Given the description of an element on the screen output the (x, y) to click on. 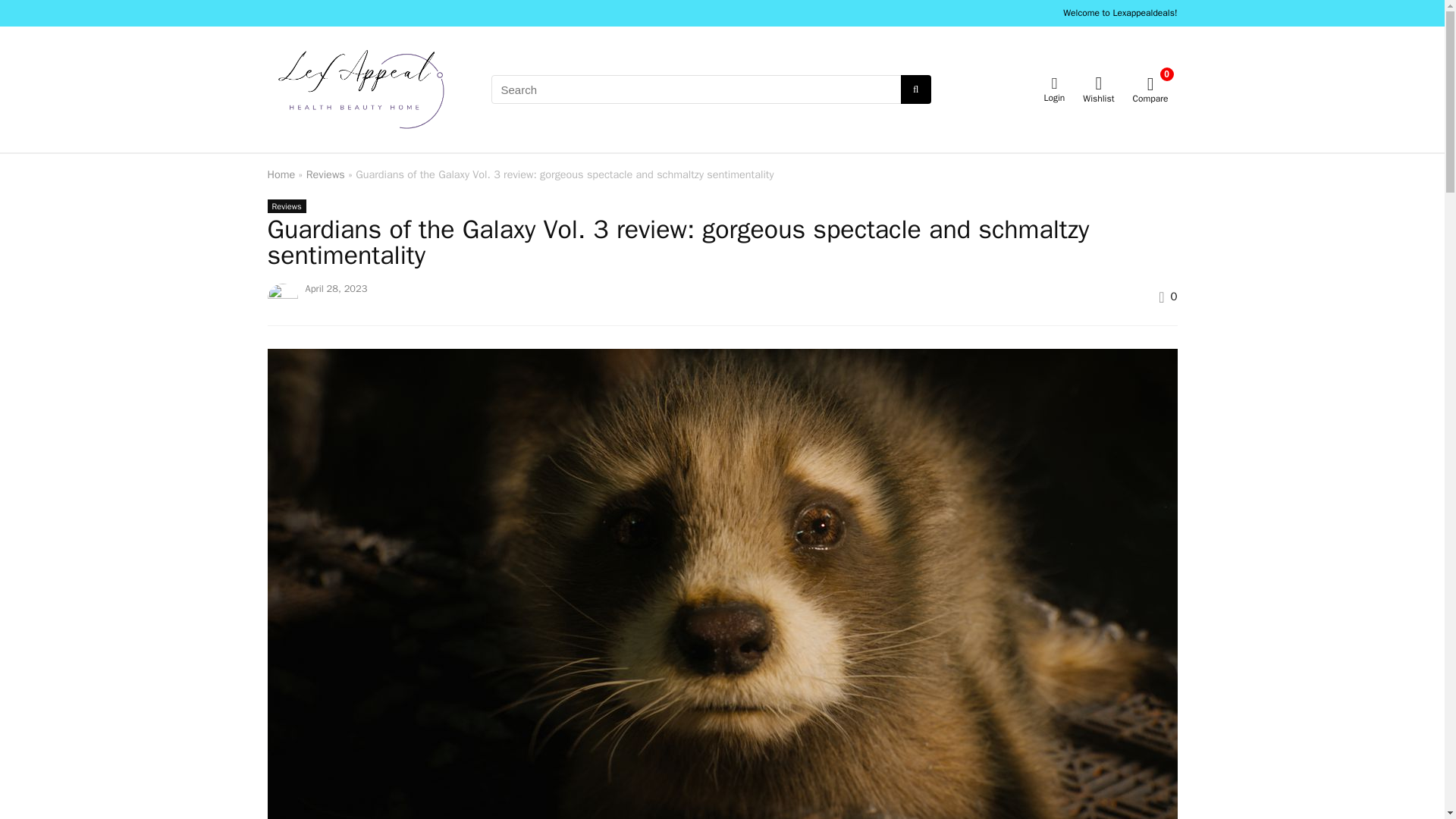
Reviews (325, 173)
Reviews (285, 205)
Home (280, 173)
View all posts in Reviews (285, 205)
